Given the description of an element on the screen output the (x, y) to click on. 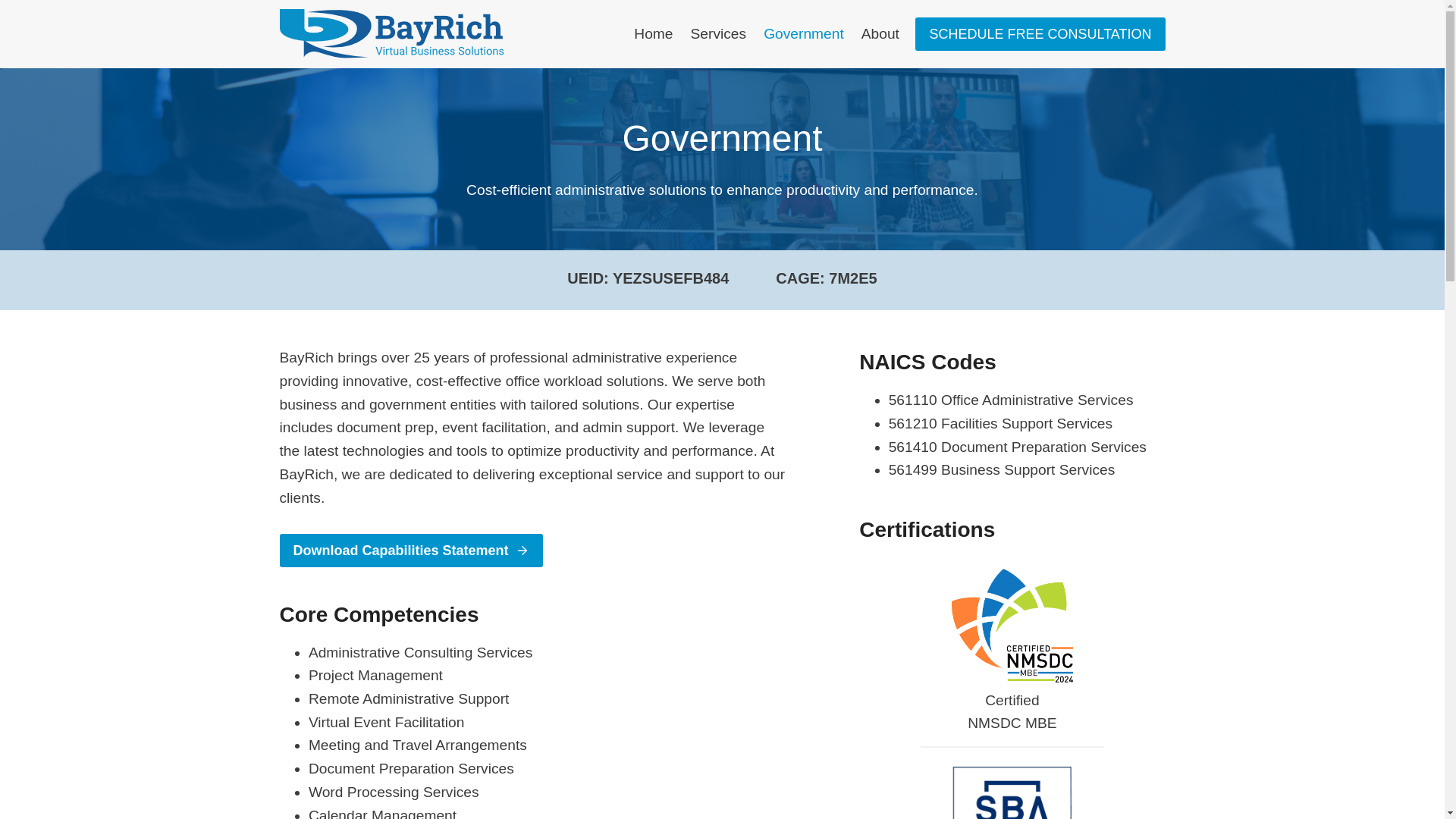
Download Capabilities Statement (410, 549)
SCHEDULE FREE CONSULTATION (1039, 33)
Government (804, 33)
Services (718, 33)
Home (653, 33)
About (879, 33)
